Given the description of an element on the screen output the (x, y) to click on. 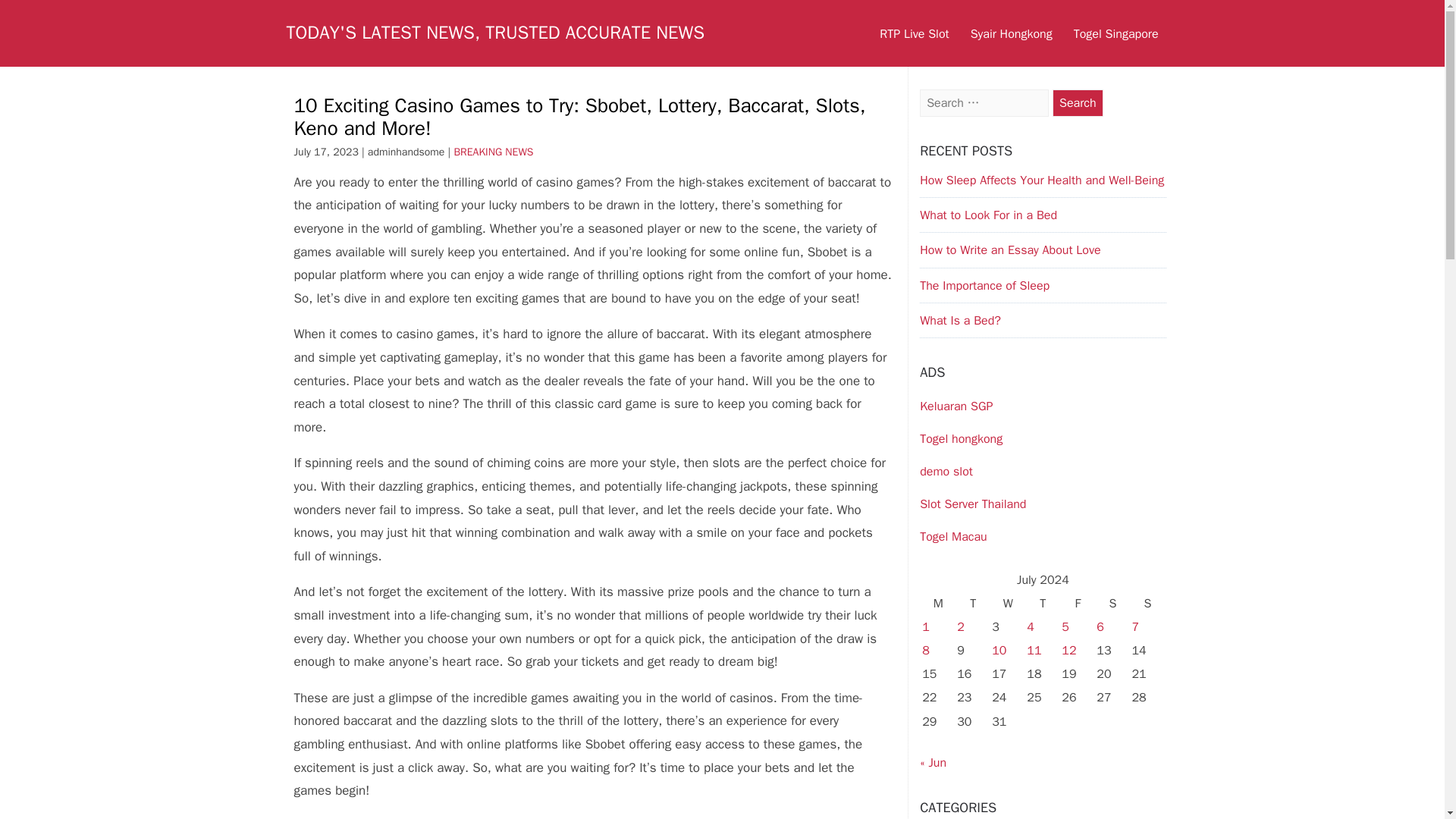
Syair Hongkong (1010, 33)
Friday (1077, 603)
BREAKING NEWS (492, 151)
Search (1077, 103)
RTP Live Slot (914, 33)
Monday (938, 603)
How Sleep Affects Your Health and Well-Being (1041, 180)
What Is a Bed? (960, 320)
demo slot (946, 471)
TODAY'S LATEST NEWS, TRUSTED ACCURATE NEWS (495, 32)
How to Write an Essay About Love (1010, 249)
Wednesday (1008, 603)
What to Look For in a Bed (988, 215)
Togel Singapore (1115, 33)
Thursday (1042, 603)
